Given the description of an element on the screen output the (x, y) to click on. 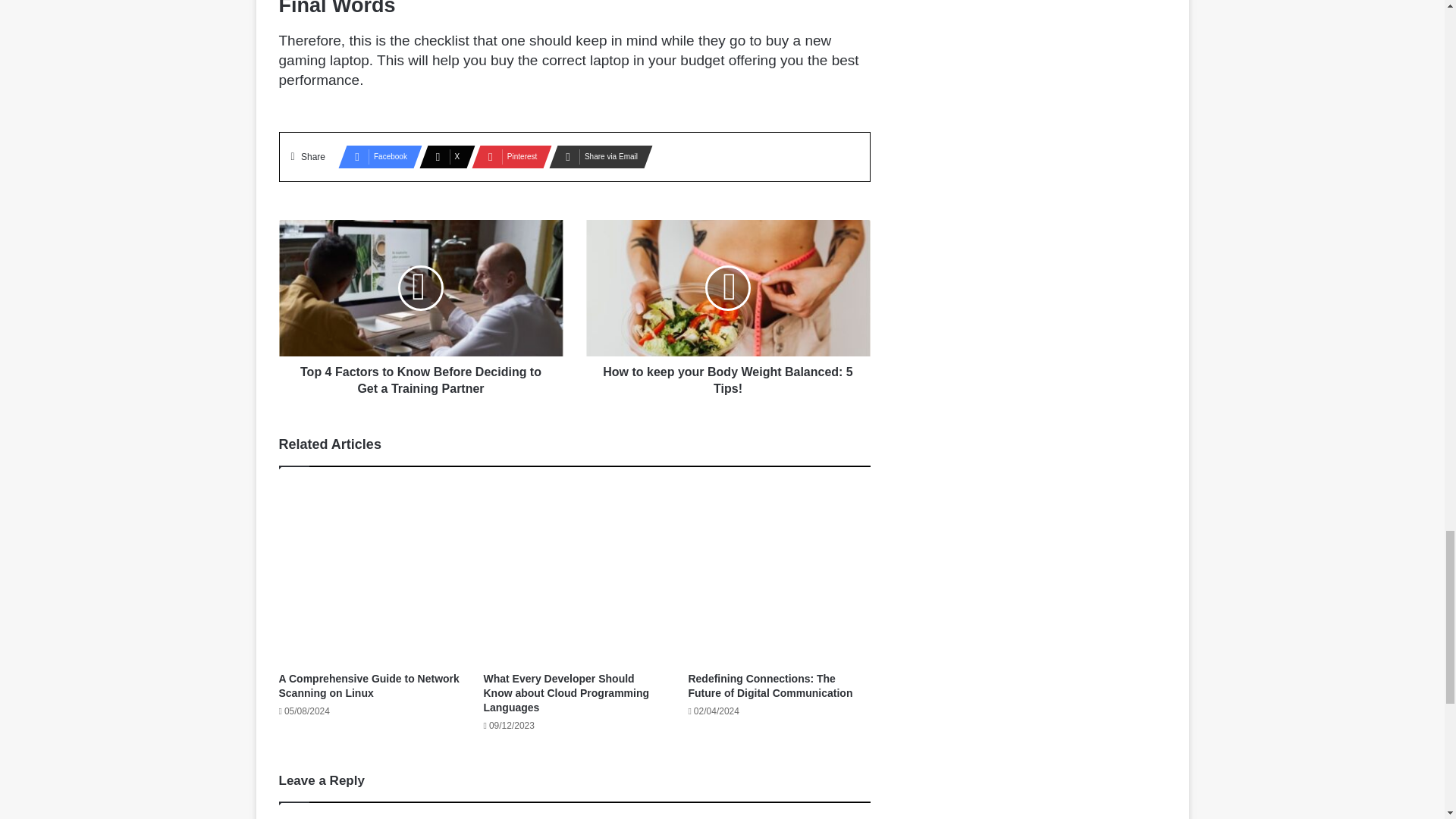
Share via Email (595, 156)
Facebook (375, 156)
Pinterest (507, 156)
X (442, 156)
